Given the description of an element on the screen output the (x, y) to click on. 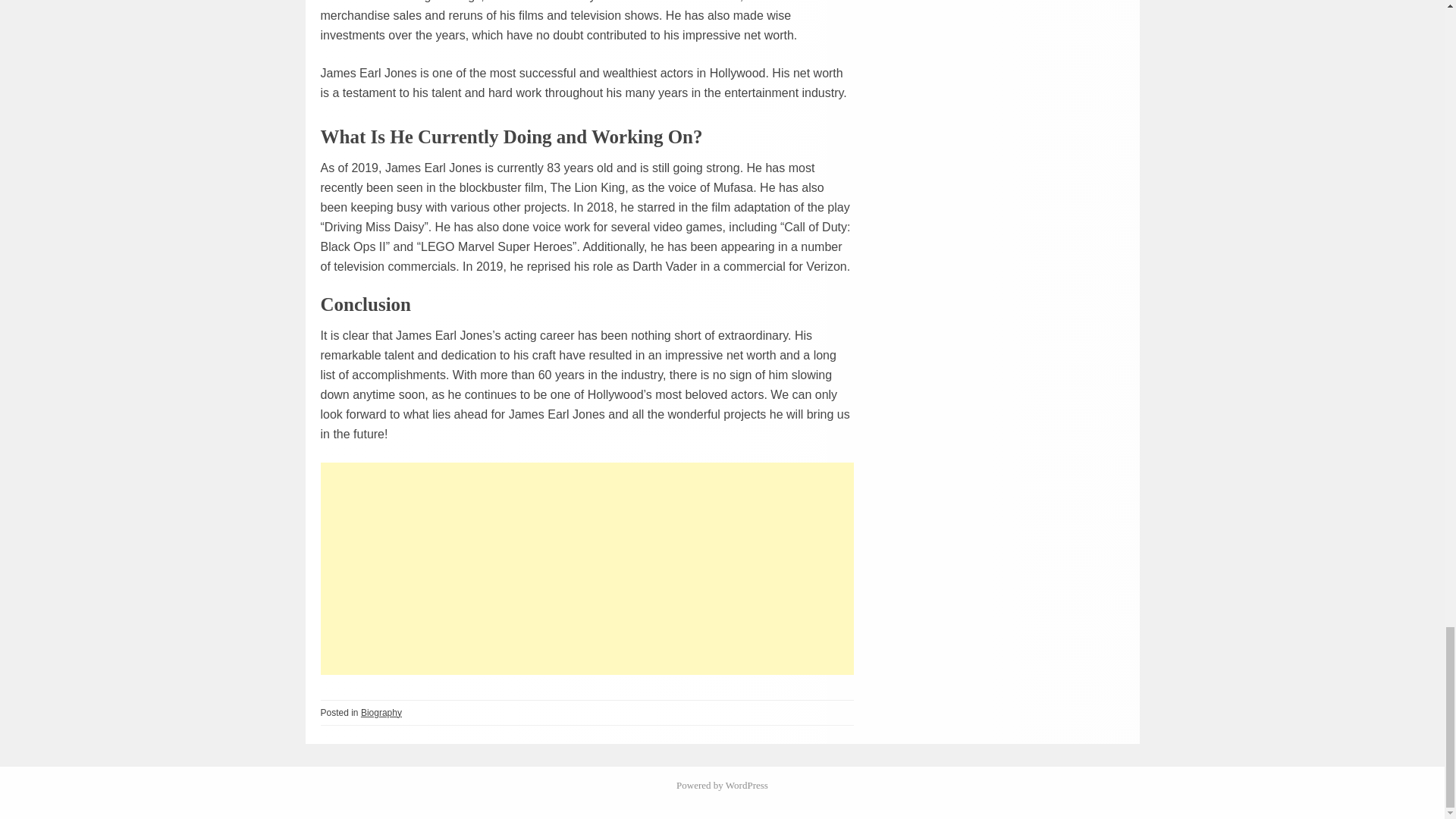
Biography (381, 712)
